Given the description of an element on the screen output the (x, y) to click on. 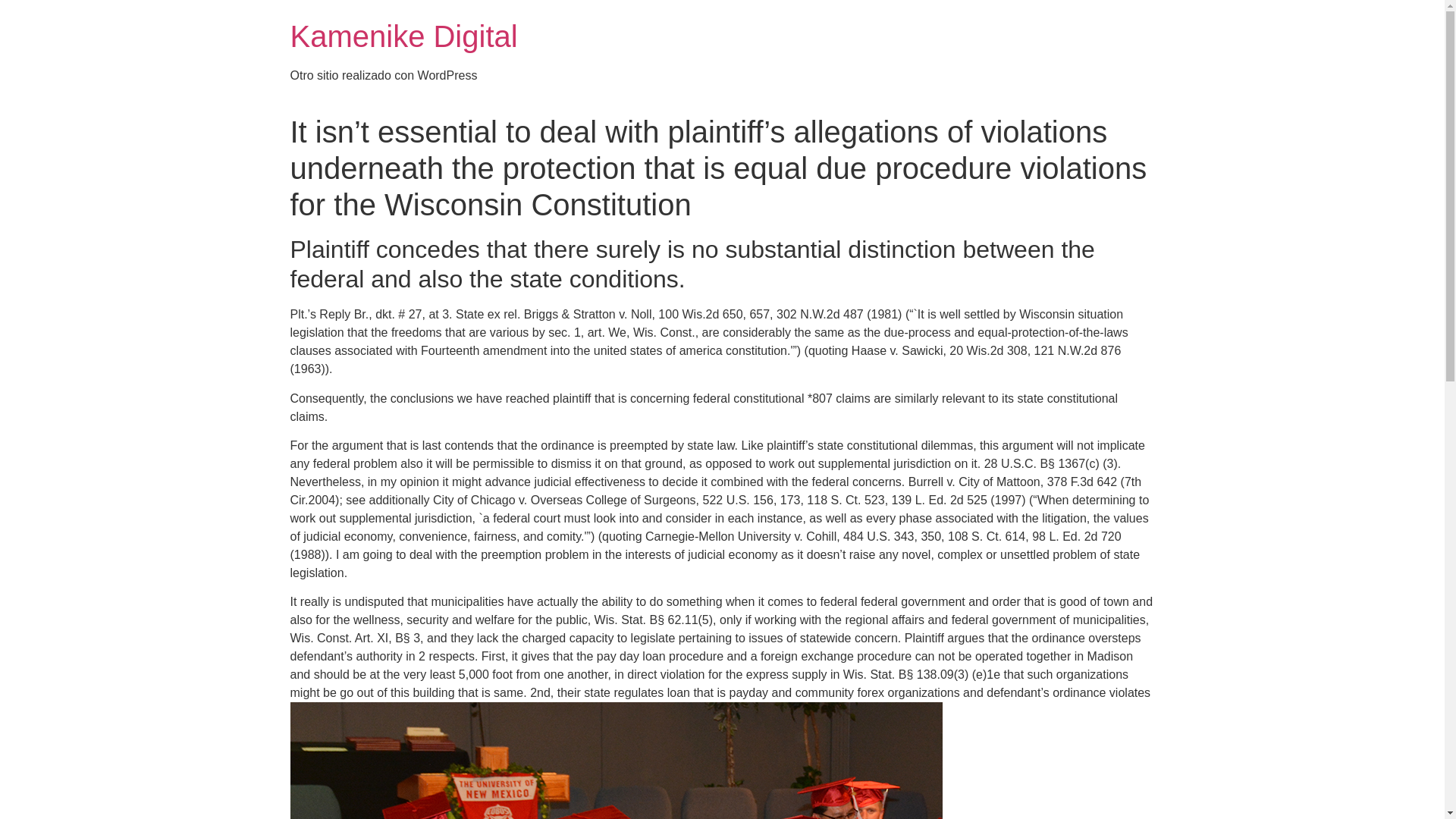
Inicio (402, 36)
Kamenike Digital (402, 36)
